Given the description of an element on the screen output the (x, y) to click on. 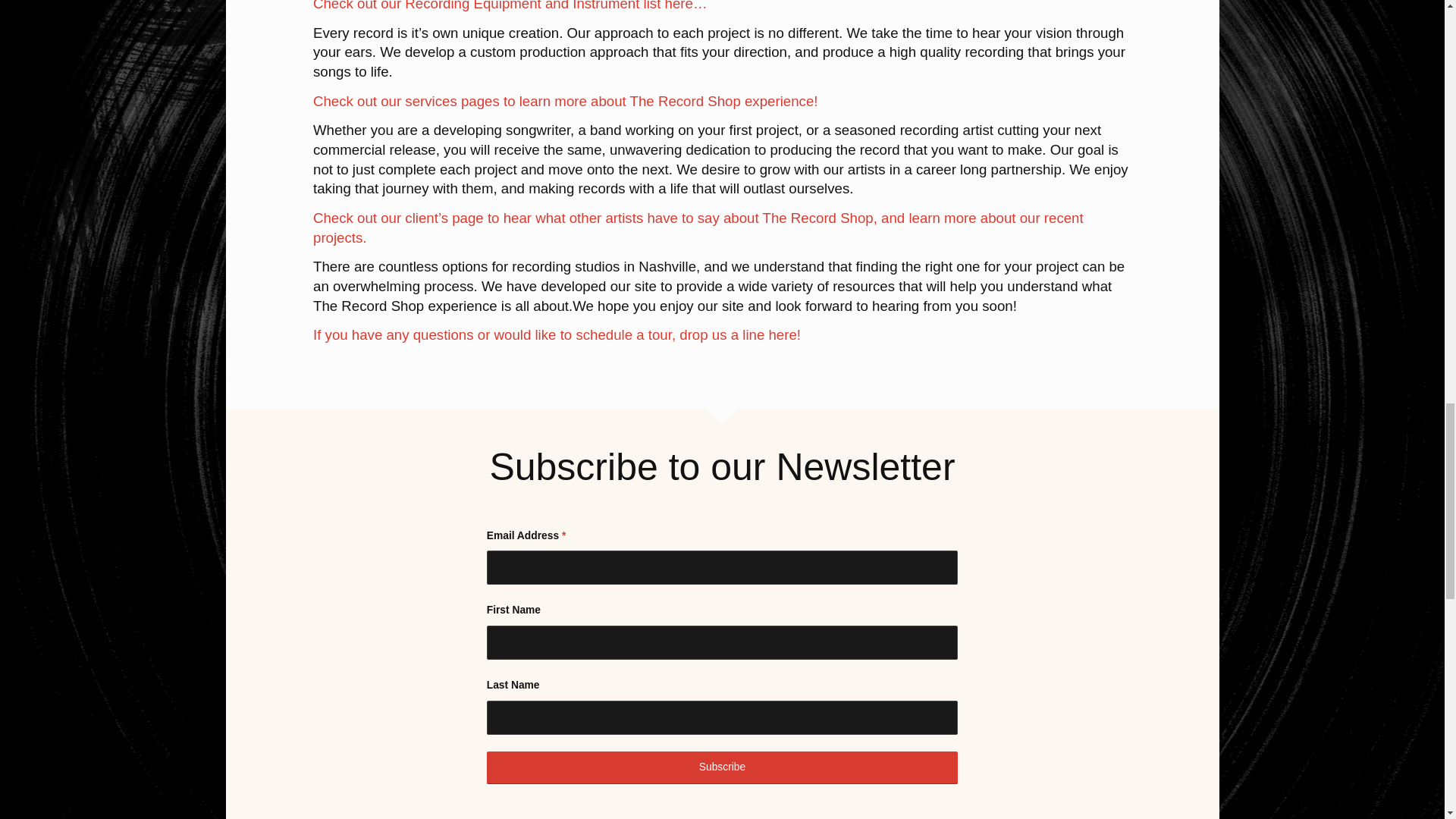
Subscribe (722, 767)
Subscribe (722, 767)
